Given the description of an element on the screen output the (x, y) to click on. 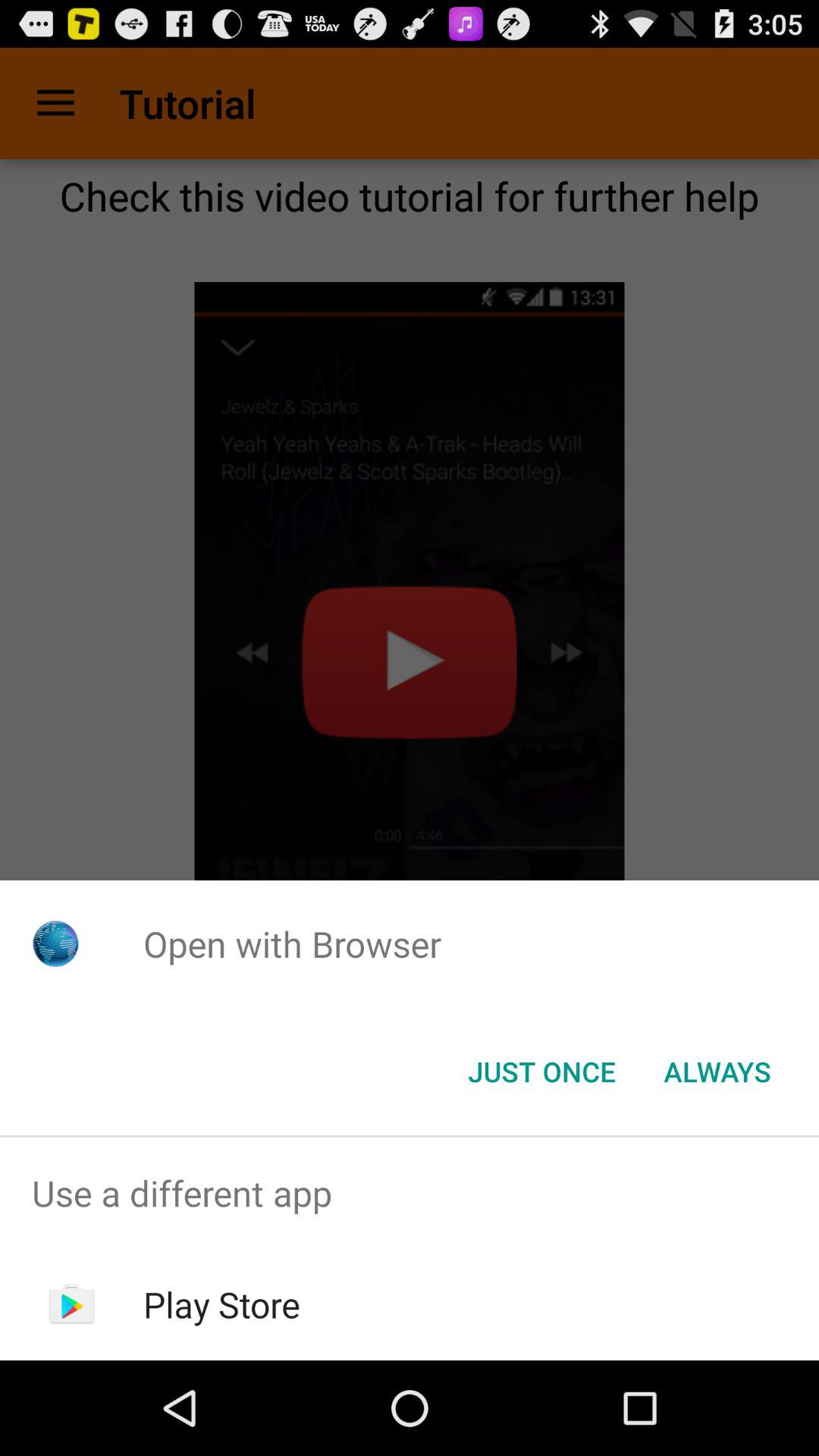
jump to the always icon (717, 1071)
